Given the description of an element on the screen output the (x, y) to click on. 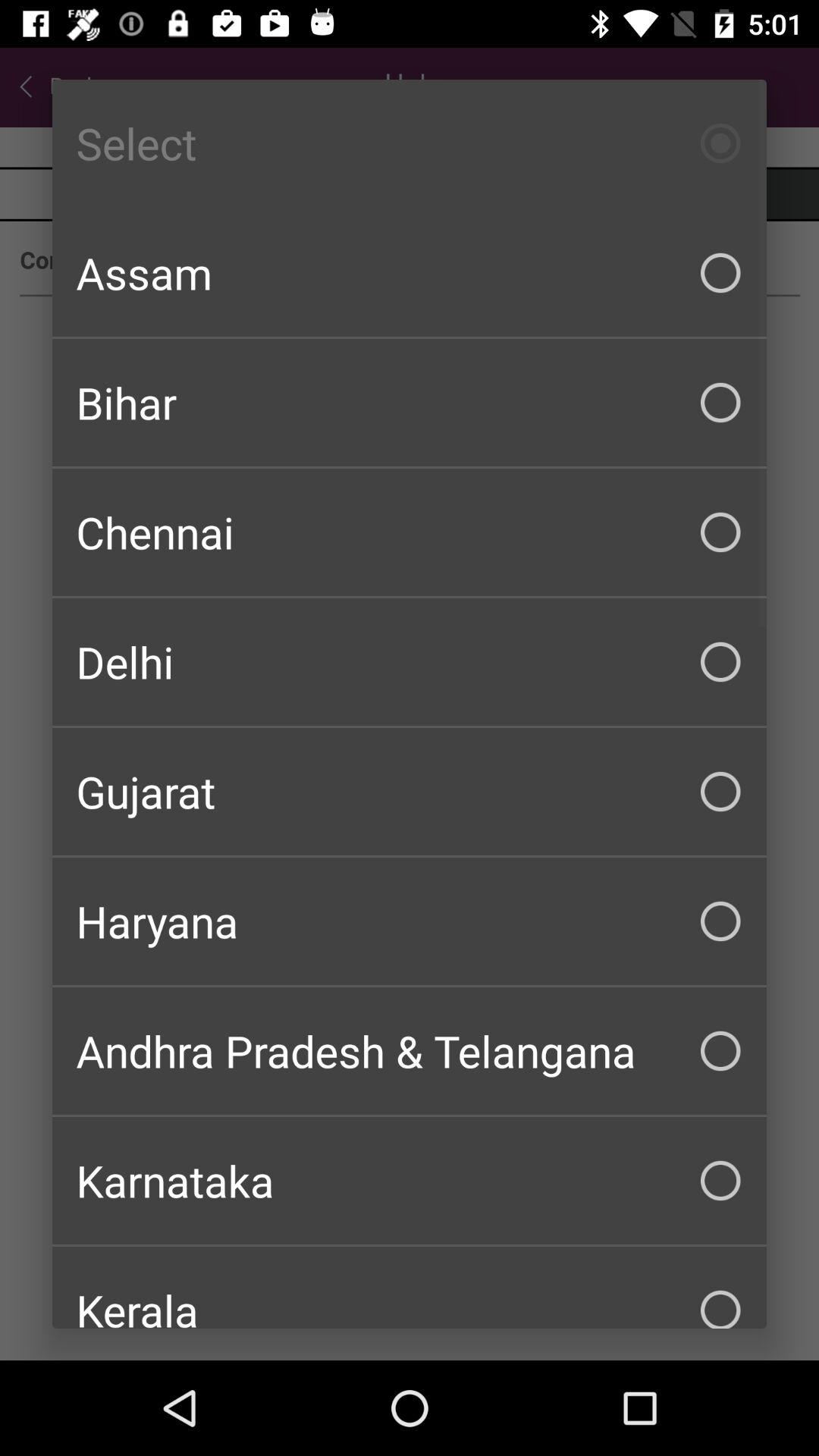
flip until the chennai icon (409, 532)
